Given the description of an element on the screen output the (x, y) to click on. 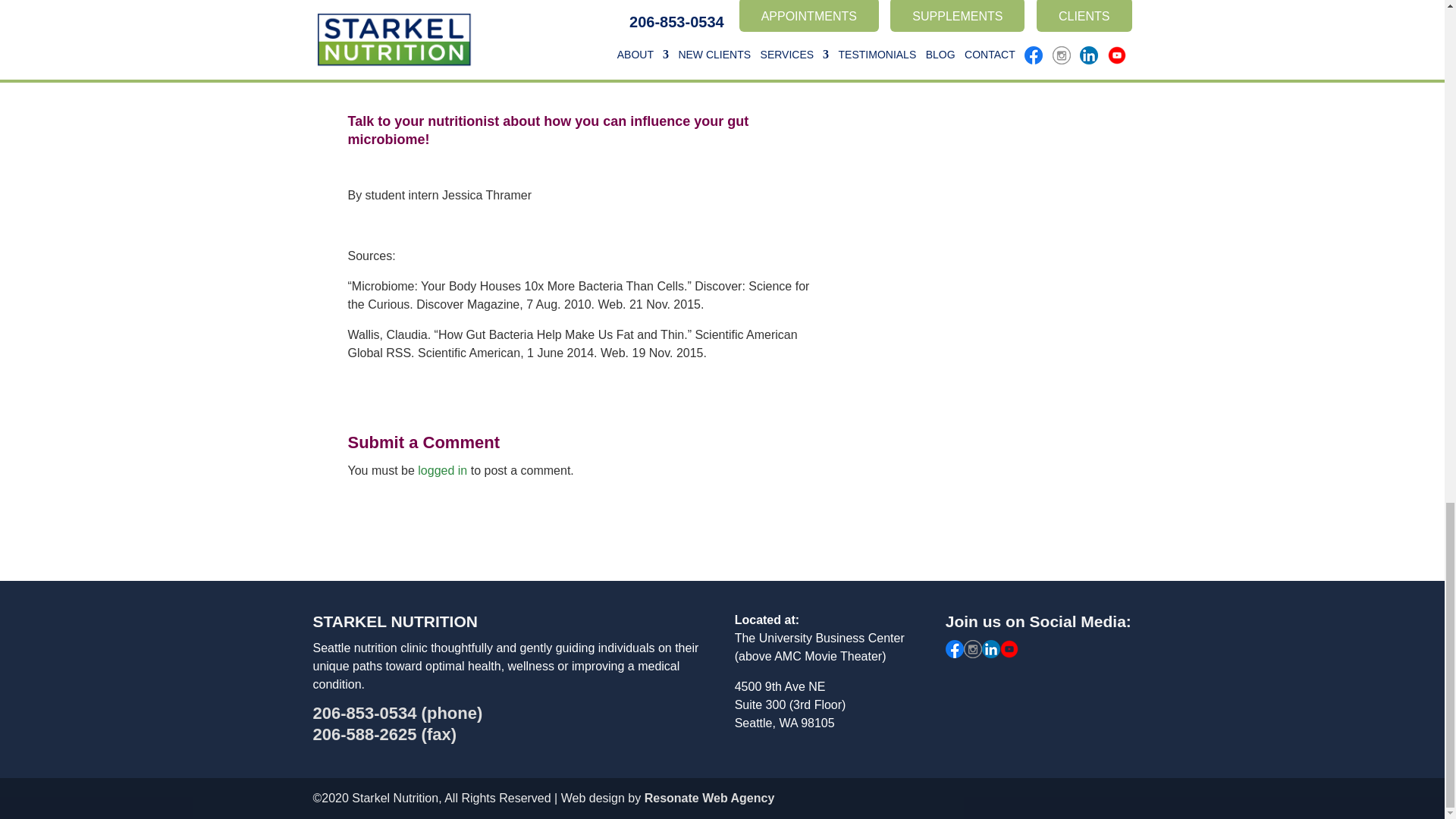
Seattle web design and marketing agency (709, 797)
